Given the description of an element on the screen output the (x, y) to click on. 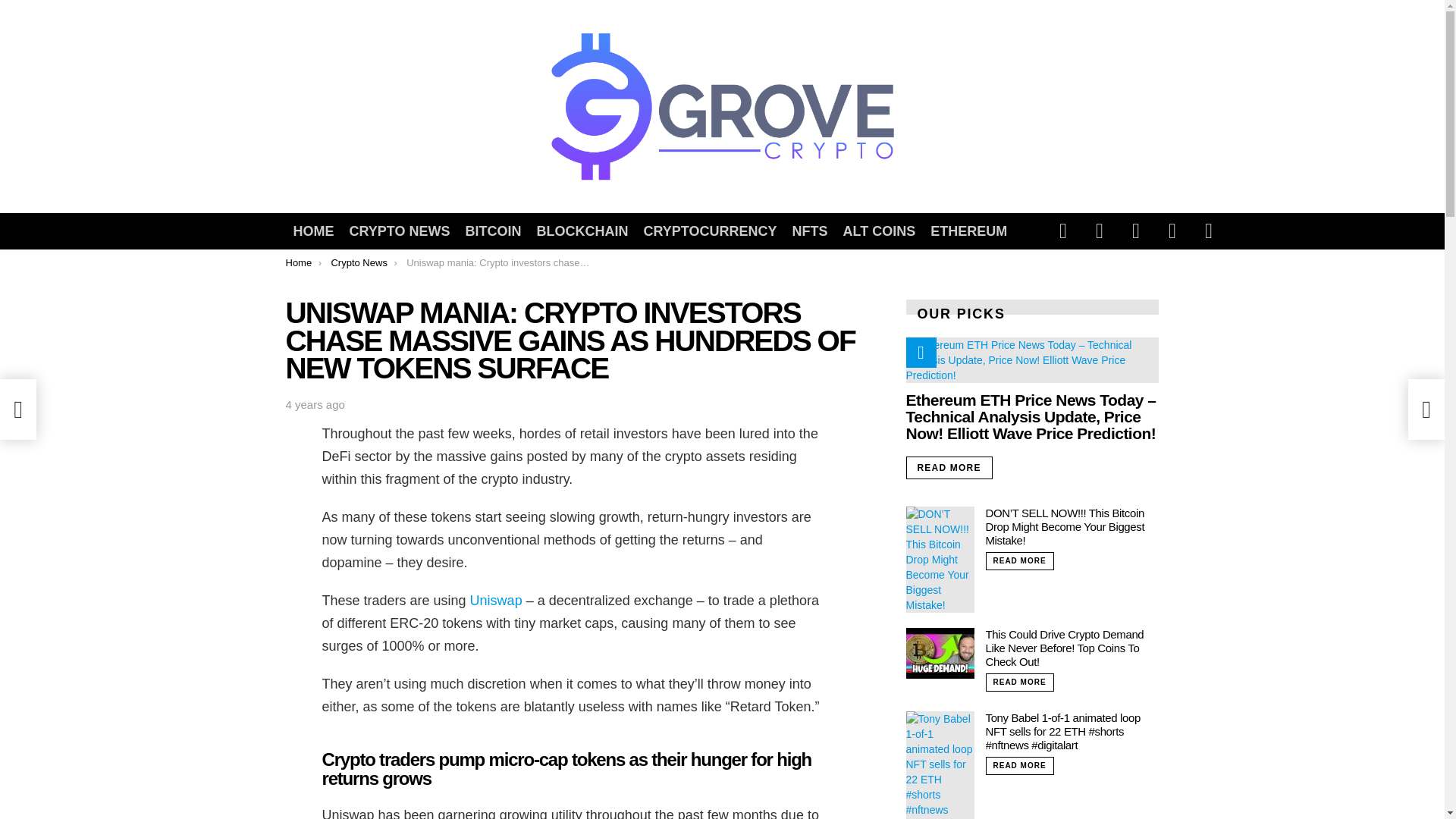
Home (298, 262)
Crypto News (358, 262)
BLOCKCHAIN (582, 231)
CRYPTOCURRENCY (710, 231)
HOME (312, 231)
NFTS (809, 231)
twitter (1099, 230)
BITCOIN (493, 231)
August 2, 2020, 10:37 am (314, 404)
instagram (1136, 230)
